Given the description of an element on the screen output the (x, y) to click on. 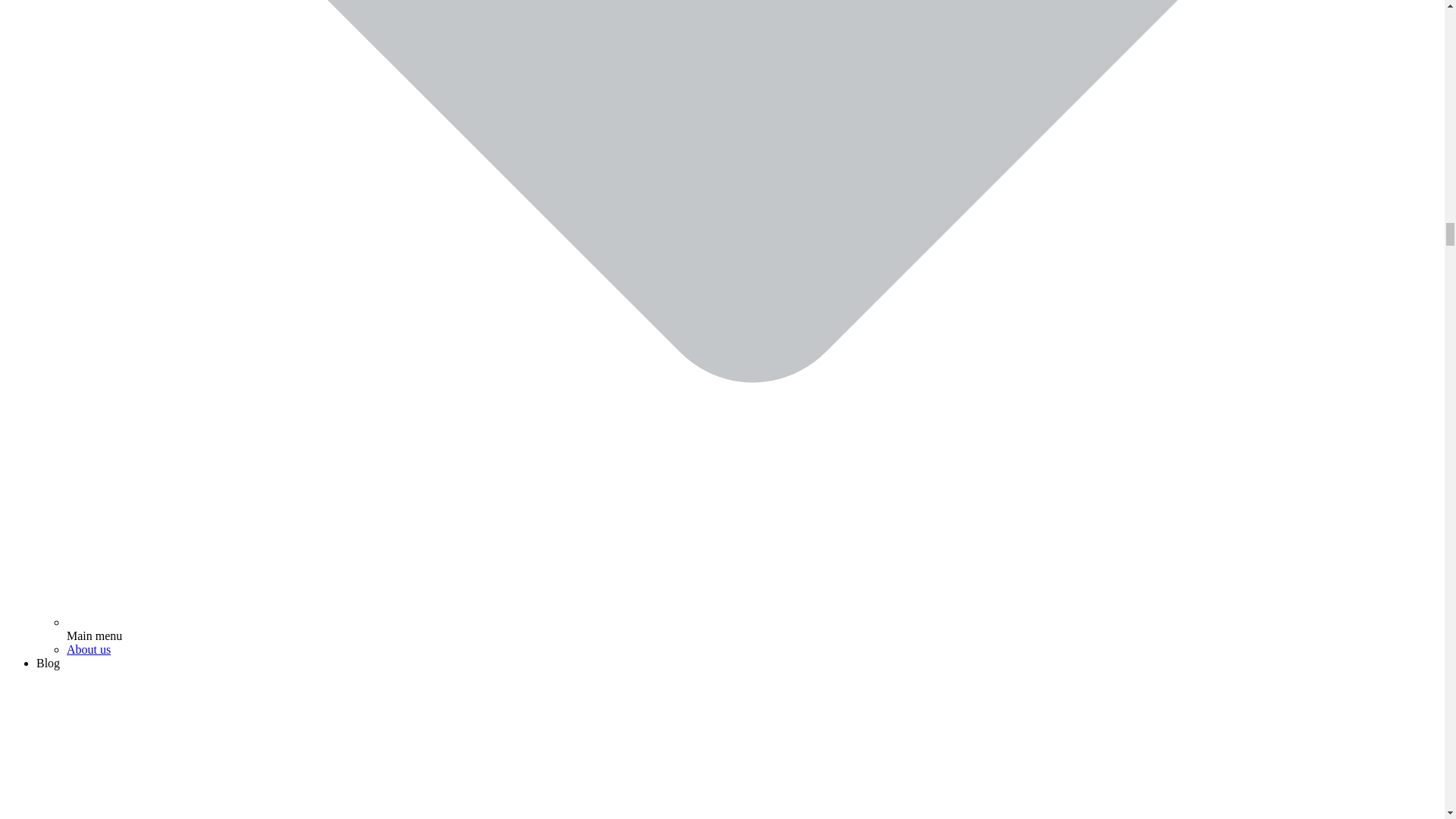
About us (88, 649)
